Given the description of an element on the screen output the (x, y) to click on. 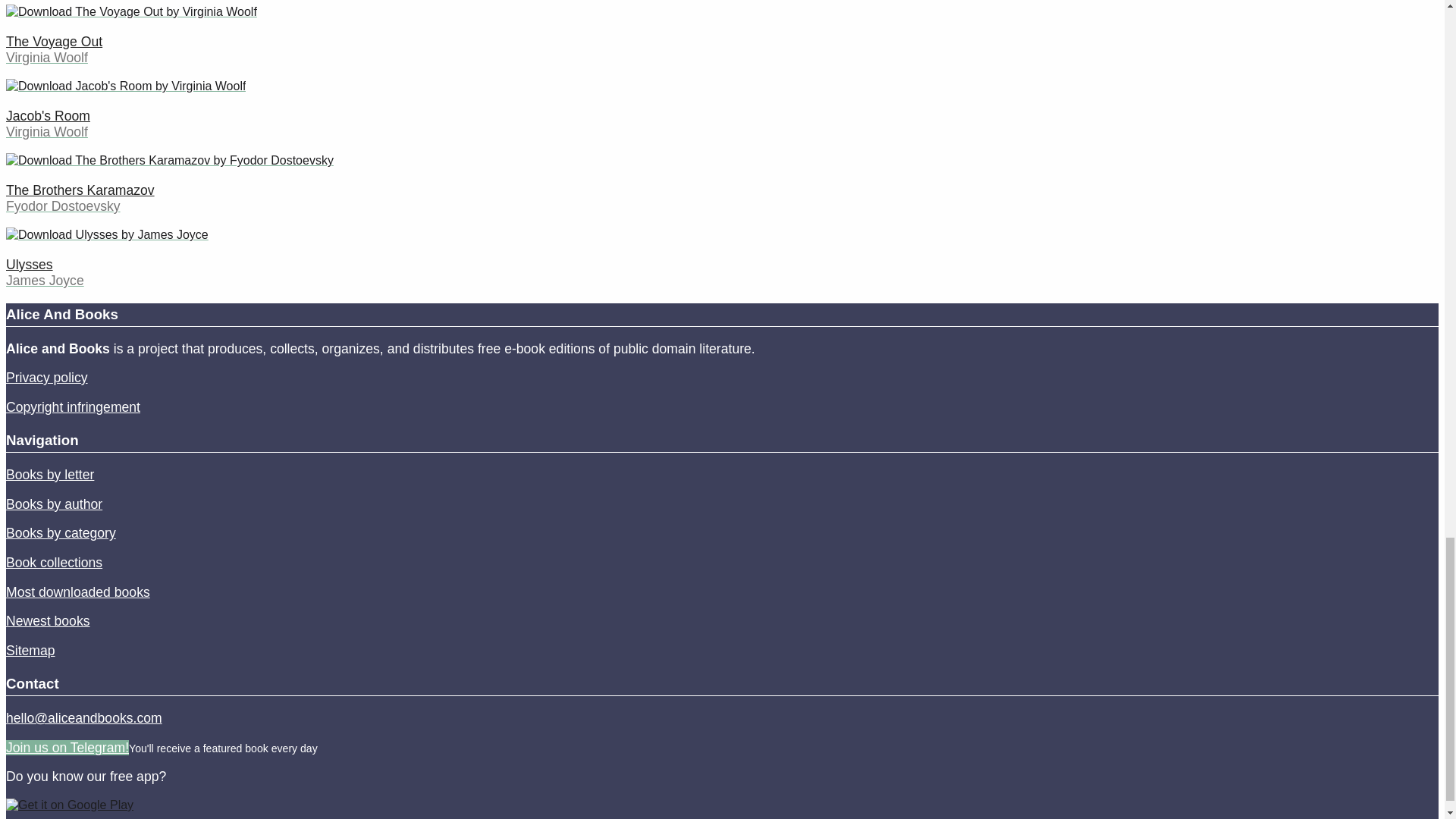
The Brothers Karamazov (79, 190)
Book collections (53, 562)
Virginia Woolf (46, 57)
Privacy policy (46, 377)
Download Jacob's Room by Virginia Woolf (125, 86)
Ulysses (28, 264)
Privacy policy (46, 377)
The Voyage Out (53, 40)
Jacob's Room (47, 115)
Copyright infringement (72, 406)
Download Ulysses by James Joyce (106, 235)
Newest books (47, 620)
Virginia Woolf (46, 131)
James Joyce (44, 280)
Fyodor Dostoevsky (62, 206)
